Given the description of an element on the screen output the (x, y) to click on. 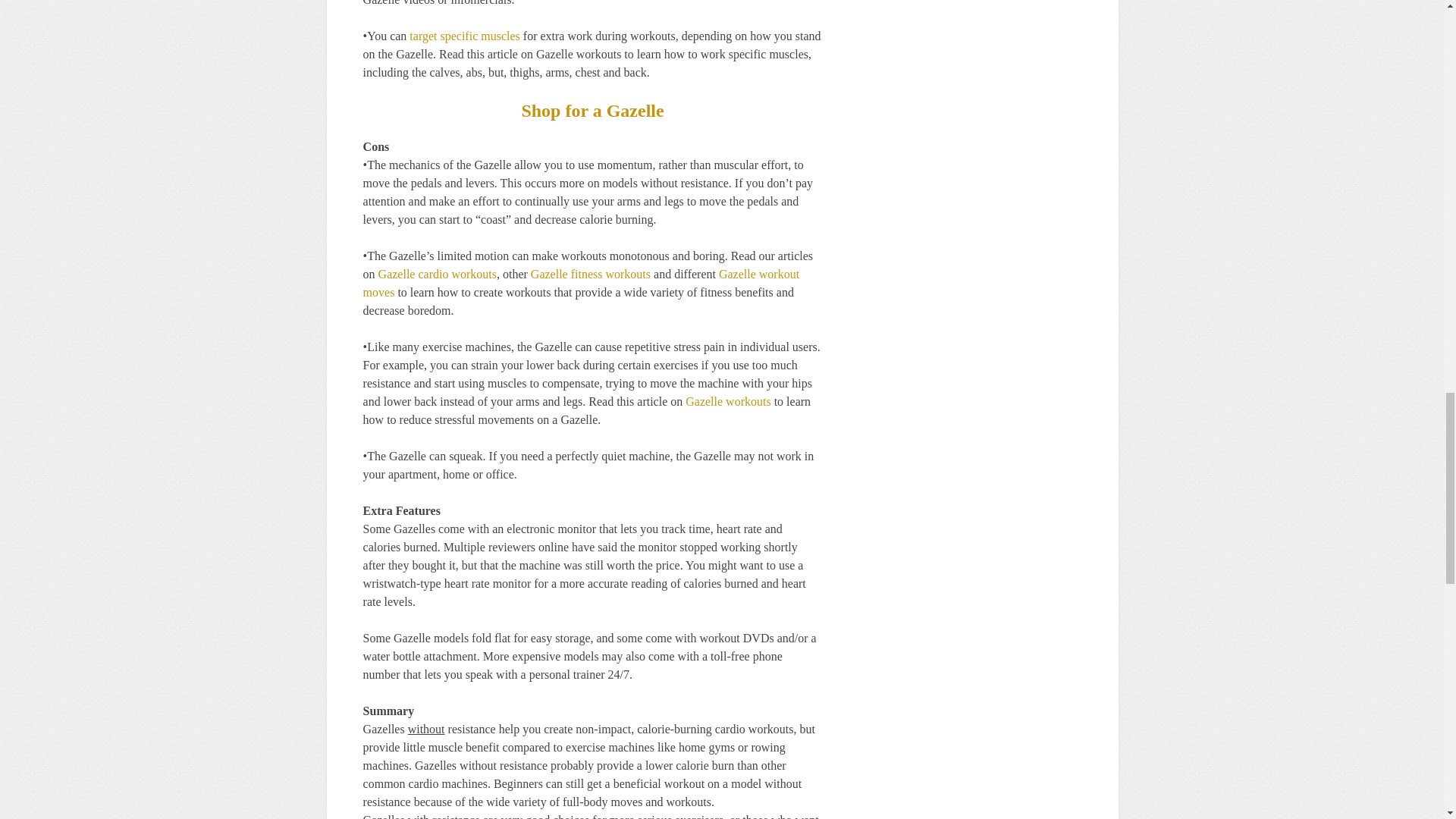
Shop for a Gazelle (592, 110)
Gazelle workouts (727, 400)
Gazelle fitness workouts (590, 273)
Gazelle cardio workouts (437, 273)
target specific muscles (464, 35)
Gazelle workout moves (580, 282)
